Given the description of an element on the screen output the (x, y) to click on. 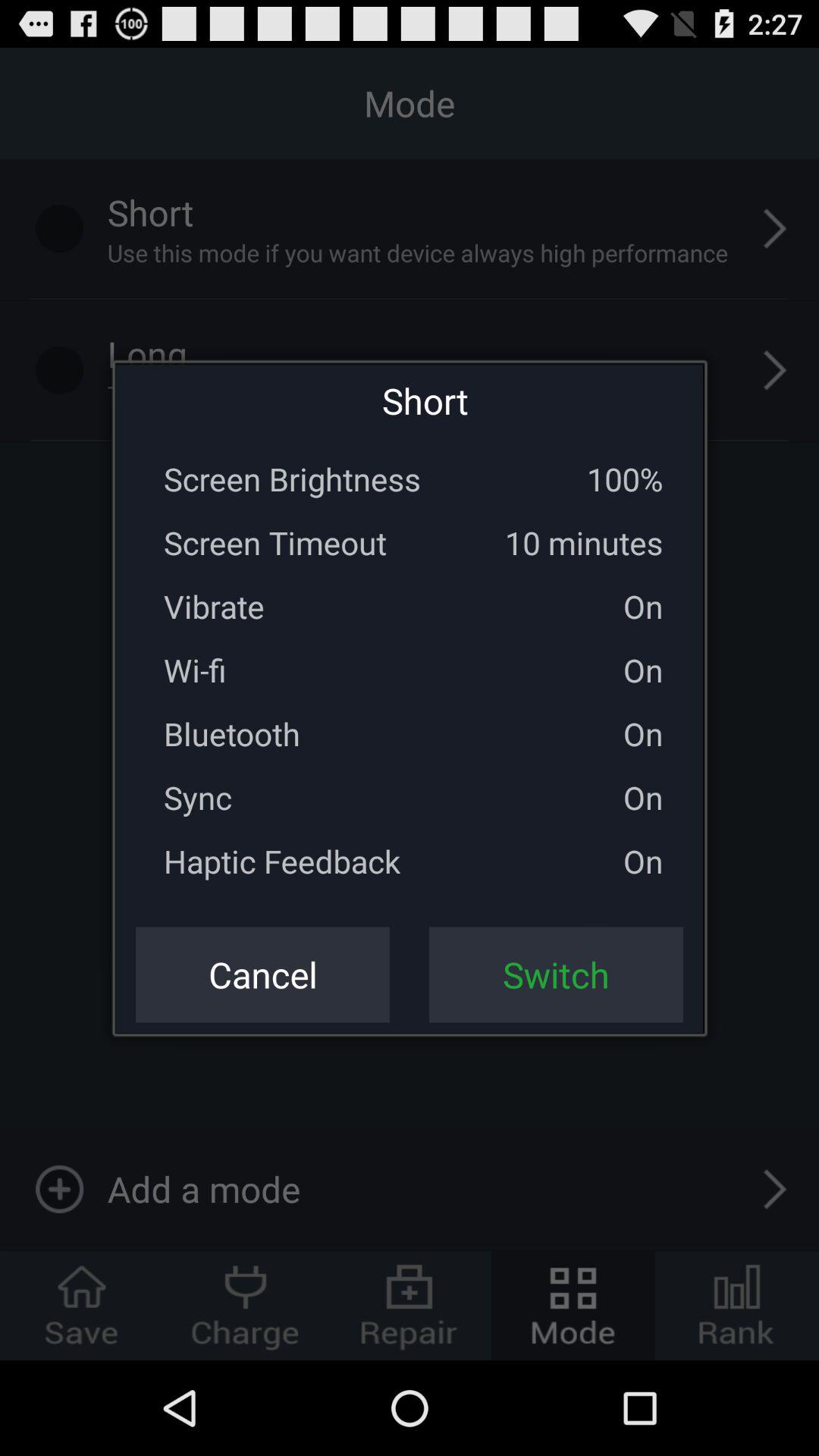
press the item next to the switch button (262, 974)
